Given the description of an element on the screen output the (x, y) to click on. 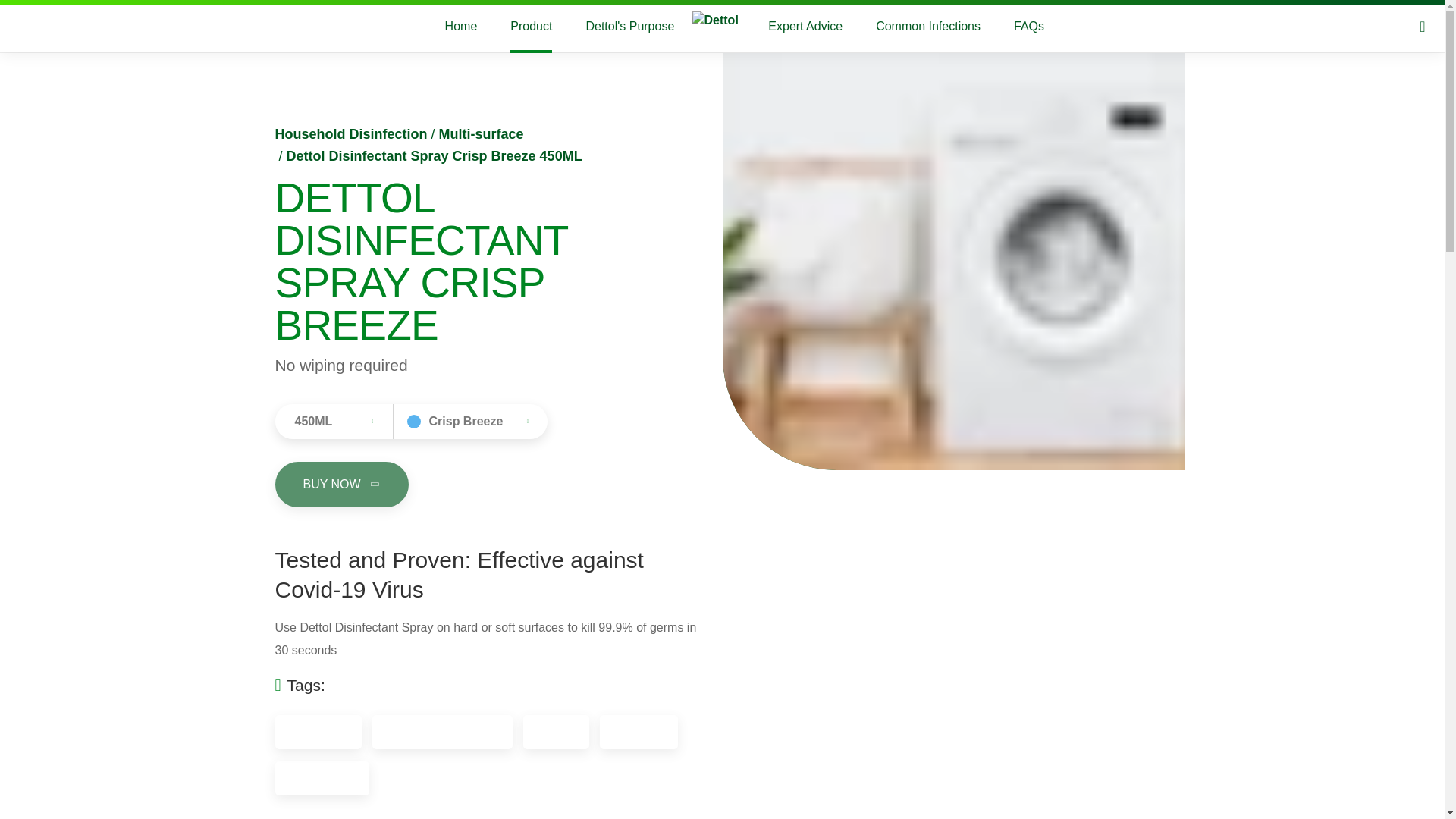
Home (461, 26)
Healthy Pets (322, 778)
Household Disinfection (350, 133)
Dettol Disinfectant Spray Crisp Breeze 450ML (434, 155)
Kitchen (555, 731)
450ML (333, 421)
BUY NOW (341, 483)
FAQs (1028, 26)
Multi-surface (481, 133)
All purpose (318, 731)
Expert Advice (805, 26)
Product (531, 26)
Electronic Equipment (442, 731)
Dettol's Purpose (629, 26)
Bathroom (638, 731)
